Given the description of an element on the screen output the (x, y) to click on. 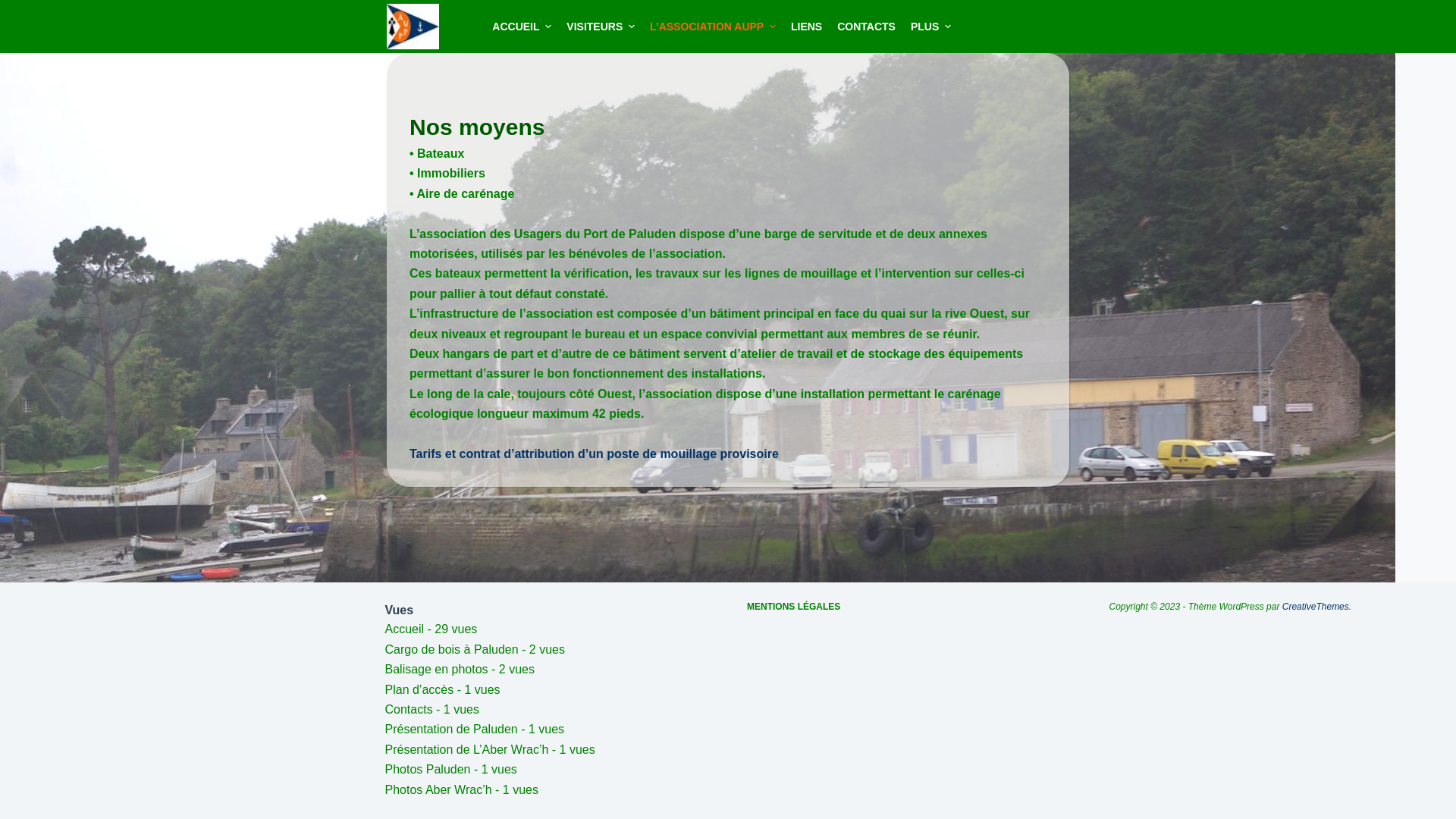
Passer au contenu Element type: text (15, 7)
CONTACTS Element type: text (866, 26)
CreativeThemes Element type: text (1315, 606)
VISITEURS Element type: text (600, 26)
PLUS Element type: text (930, 26)
Balisage en photos Element type: text (436, 668)
LIENS Element type: text (806, 26)
Photos Paluden Element type: text (427, 768)
ACCUEIL Element type: text (521, 26)
Accueil Element type: text (404, 628)
Contacts Element type: text (409, 708)
